Given the description of an element on the screen output the (x, y) to click on. 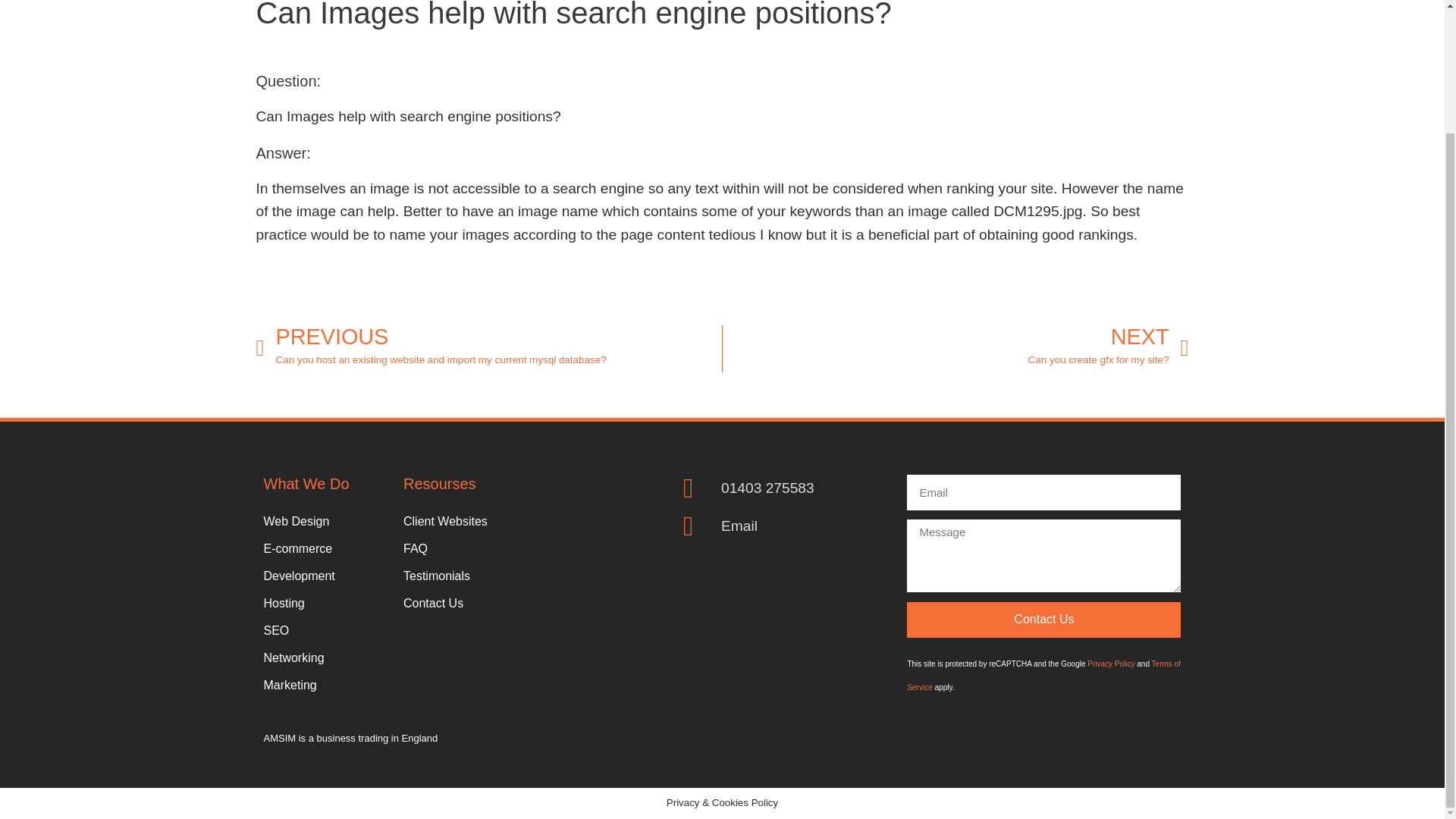
SEO (325, 630)
Networking (325, 657)
Web Design (325, 521)
Marketing (325, 685)
E-commerce (955, 348)
Hosting (325, 548)
Development (325, 603)
